Given the description of an element on the screen output the (x, y) to click on. 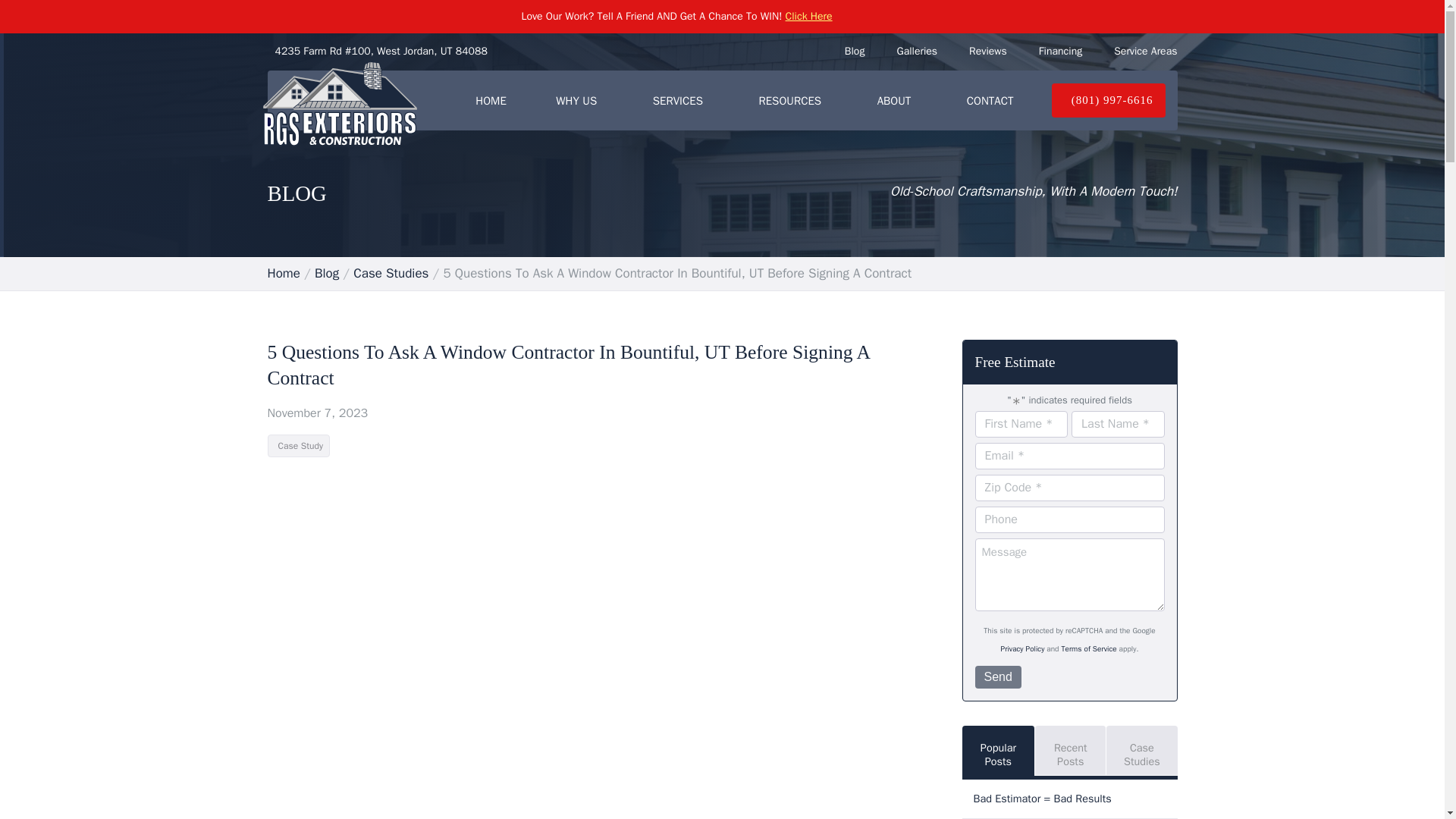
Financing (1060, 51)
Send (998, 676)
Reviews (988, 51)
Service Areas (1144, 51)
Galleries (916, 51)
Blog (854, 51)
WHY US (579, 100)
SERVICES (680, 100)
HOME (490, 100)
Click Here (809, 15)
